Given the description of an element on the screen output the (x, y) to click on. 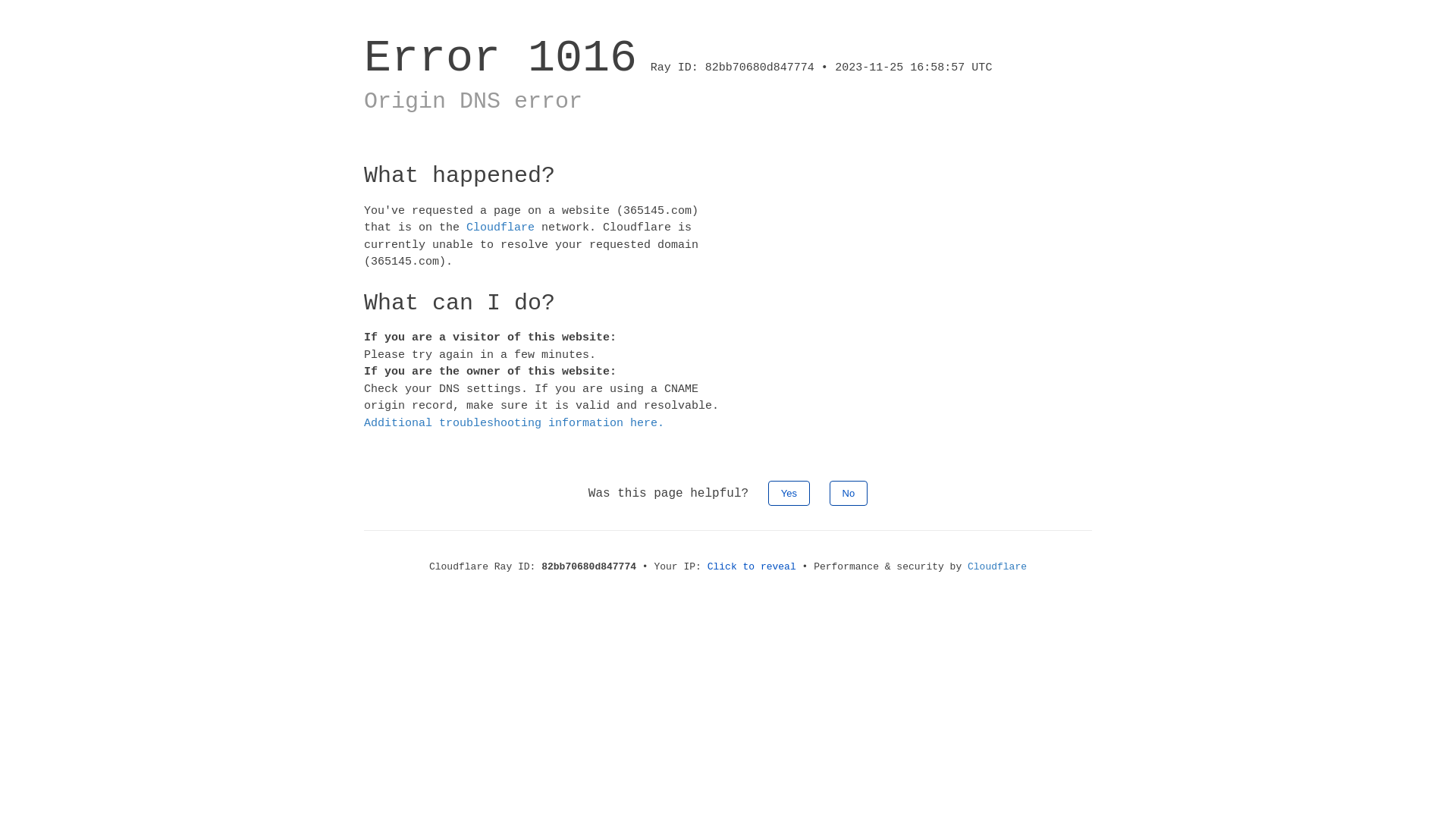
Yes Element type: text (788, 492)
Additional troubleshooting information here. Element type: text (514, 423)
No Element type: text (848, 492)
Cloudflare Element type: text (996, 566)
Click to reveal Element type: text (751, 566)
Cloudflare Element type: text (500, 227)
